Given the description of an element on the screen output the (x, y) to click on. 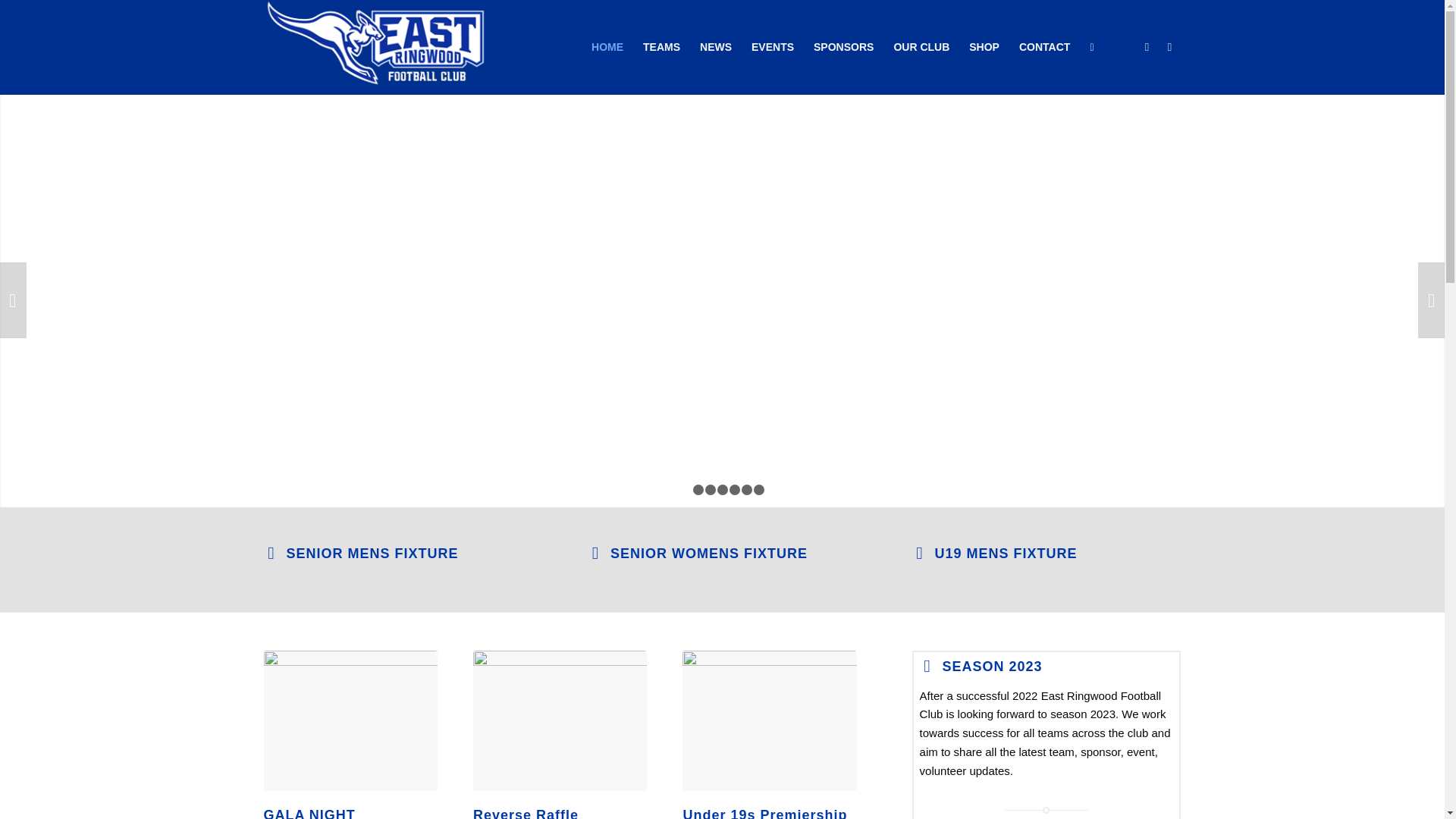
OUR CLUB Element type: text (921, 47)
SHOP Element type: text (984, 47)
CONTACT Element type: text (1044, 47)
SENIOR WOMENS FIXTURE Element type: text (708, 553)
SENIOR MENS FIXTURE Element type: text (372, 553)
6 Element type: text (746, 489)
Under 19s Premiership Element type: hover (769, 720)
5 Element type: text (734, 489)
GALA NIGHT Element type: hover (350, 720)
EVENTS Element type: text (772, 47)
TEAMS Element type: text (661, 47)
HOME Element type: text (607, 47)
2 Element type: text (698, 489)
SPONSORS Element type: text (843, 47)
U19 MENS FIXTURE Element type: text (1006, 553)
SEASON 2023 Element type: text (992, 666)
Facebook Element type: hover (1169, 45)
7 Element type: text (758, 489)
Next Element type: text (1431, 300)
3 Element type: text (710, 489)
NEWS Element type: text (715, 47)
Twitter Element type: hover (1146, 45)
Previous Element type: text (13, 300)
4 Element type: text (722, 489)
1 Element type: text (685, 489)
Reverse Raffle Element type: hover (560, 720)
